Given the description of an element on the screen output the (x, y) to click on. 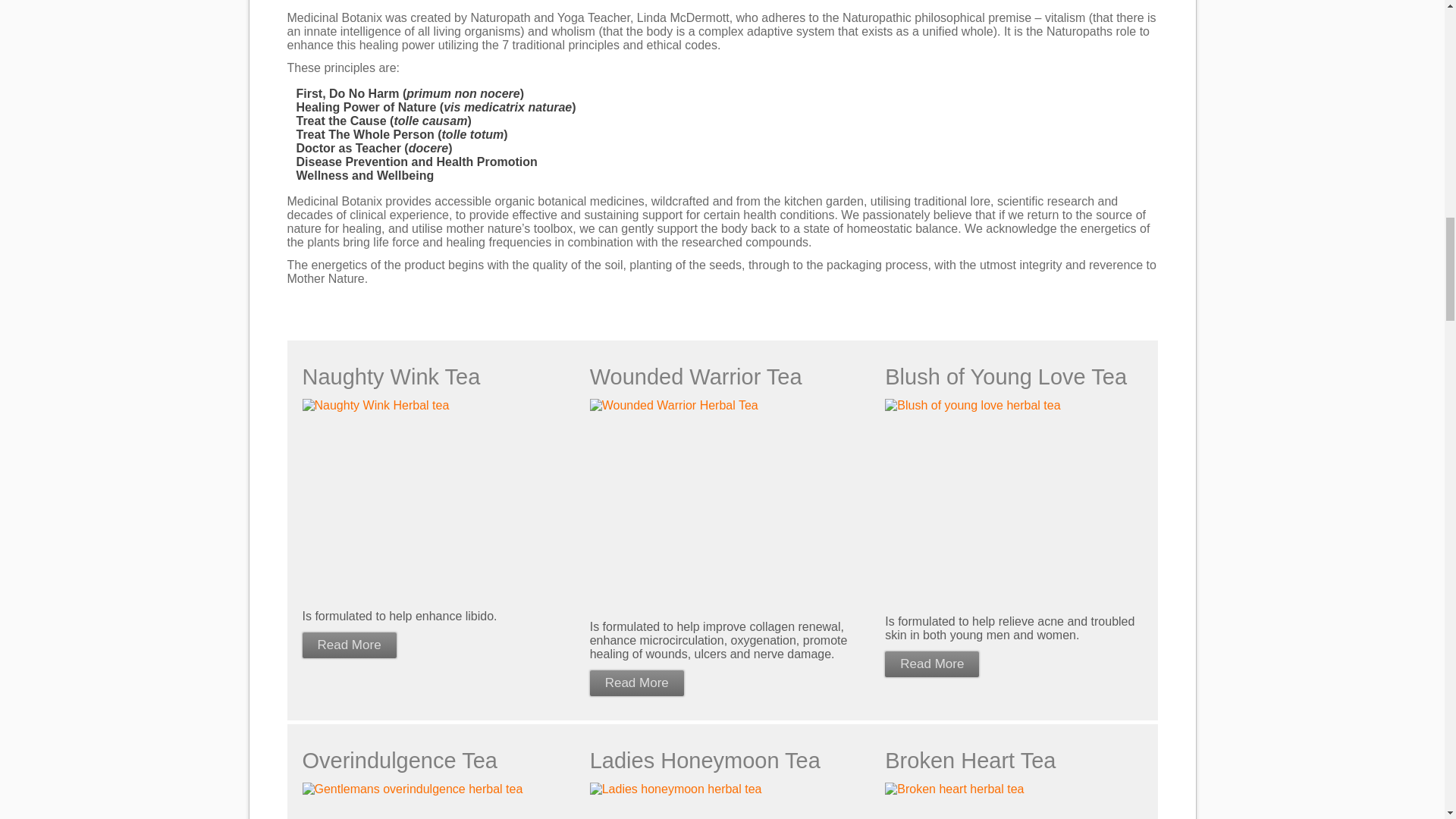
Read More (636, 683)
Read More (931, 664)
Read More (348, 645)
